Given the description of an element on the screen output the (x, y) to click on. 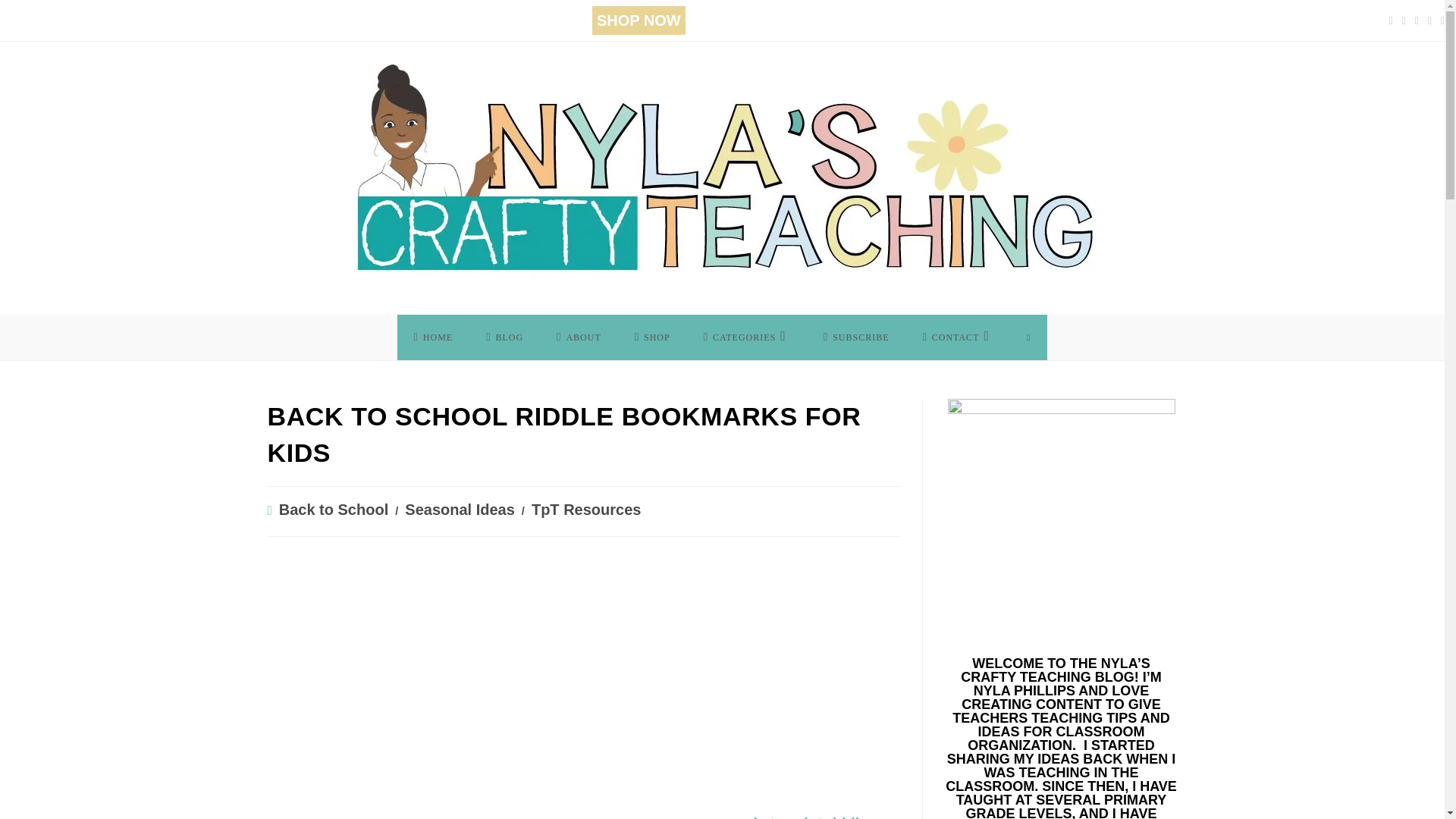
SHOP NOW (638, 20)
BLOG (504, 337)
ABOUT (578, 337)
SHOP NOW (638, 20)
SHOP (652, 337)
HOME (433, 337)
Back to School Riddle Bookmarks for Kids 1 (387, 673)
CATEGORIES (746, 337)
